Given the description of an element on the screen output the (x, y) to click on. 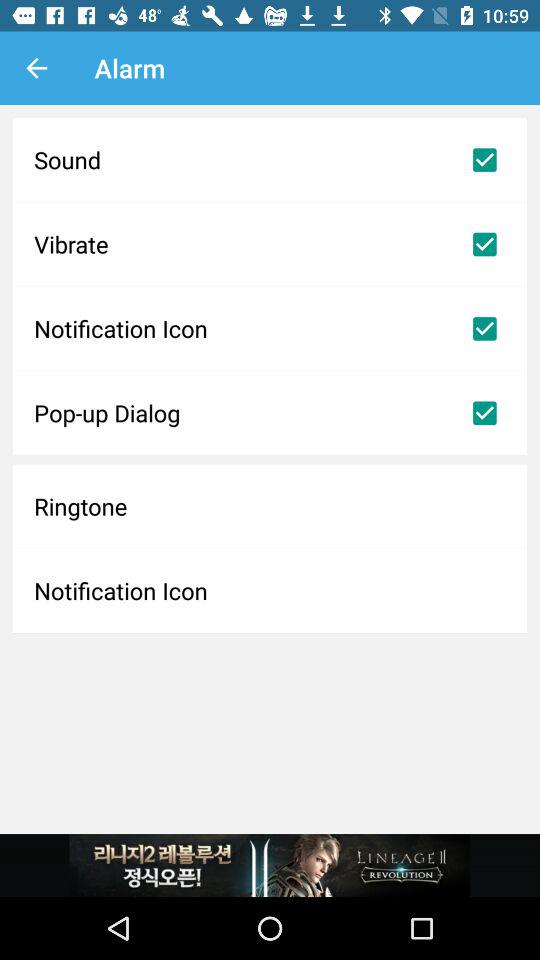
press the vibrate icon (269, 244)
